Given the description of an element on the screen output the (x, y) to click on. 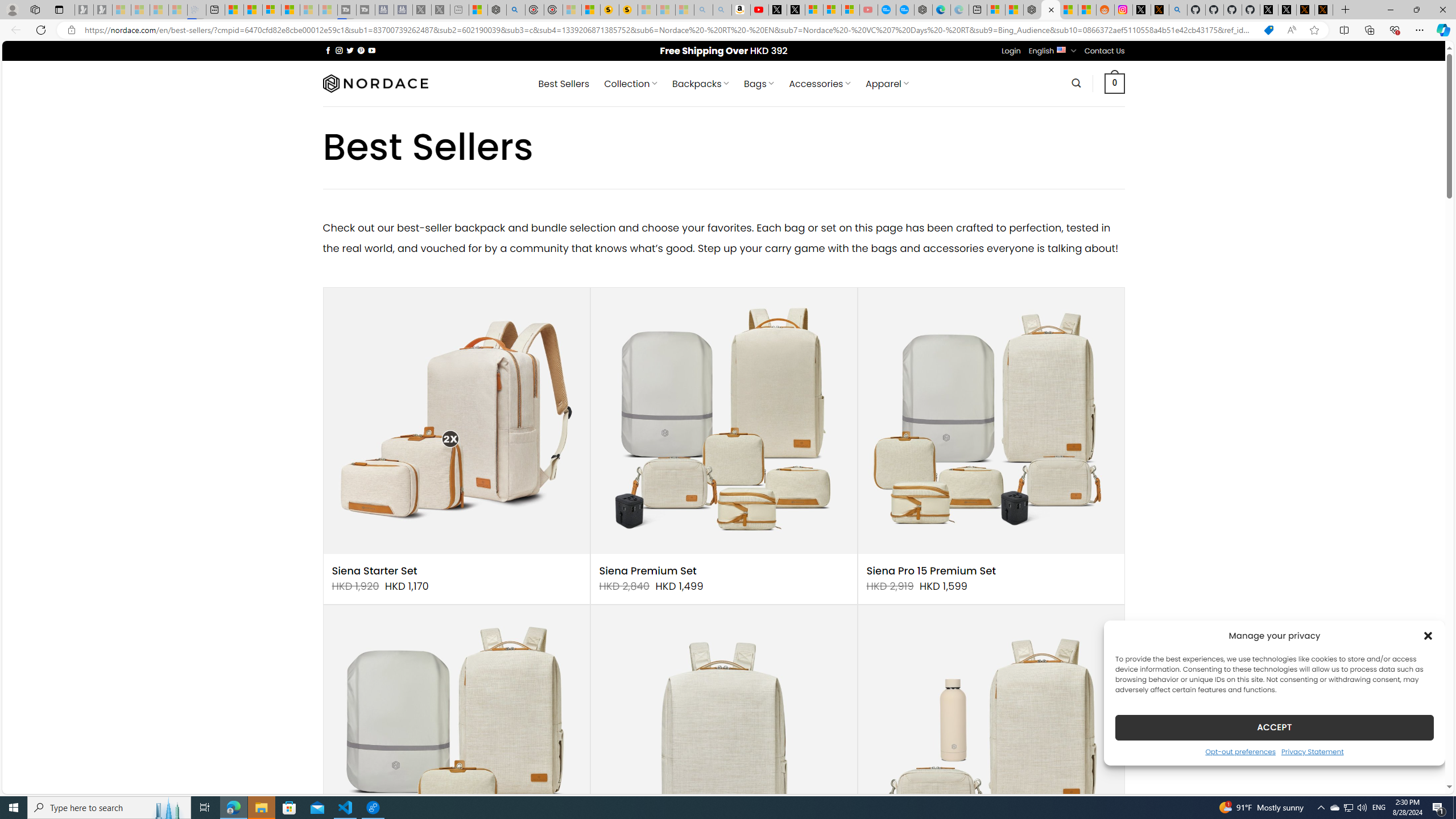
Day 1: Arriving in Yemen (surreal to be here) - YouTube (759, 9)
Amazon Echo Dot PNG - Search Images - Sleeping (721, 9)
Privacy Statement (1312, 750)
github - Search (1178, 9)
Microsoft account | Microsoft Account Privacy Settings (996, 9)
Follow on Instagram (338, 49)
